Given the description of an element on the screen output the (x, y) to click on. 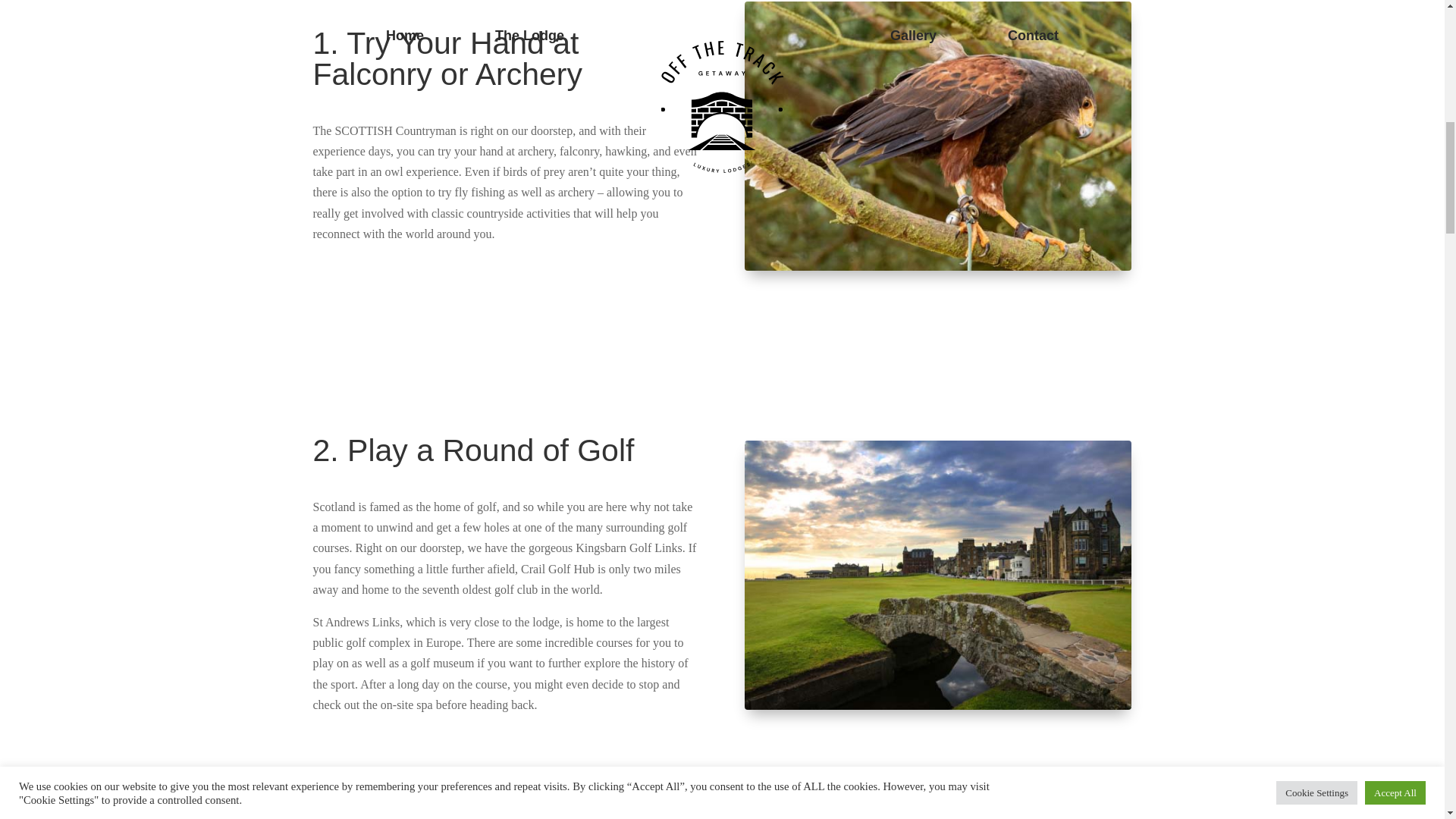
the scottish countryman falconry (937, 136)
kingsbarn golf links (937, 575)
